Given the description of an element on the screen output the (x, y) to click on. 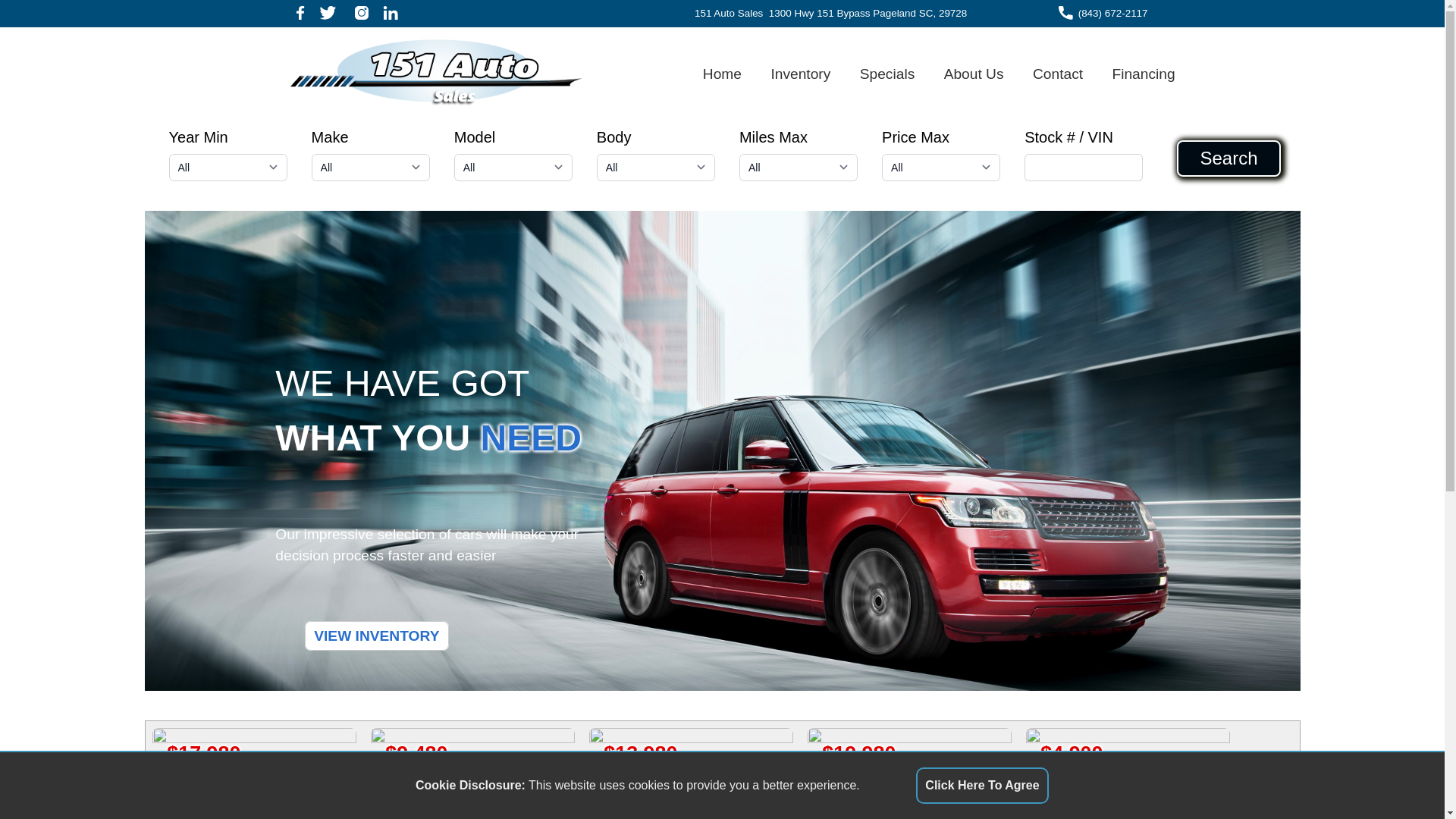
Contact Element type: text (1058, 73)
$13,980 Element type: text (513, 738)
Financing Element type: text (1143, 73)
$9,480 Element type: text (302, 738)
Home Element type: text (722, 73)
VIEW INVENTORY Element type: text (376, 635)
About Us Element type: text (972, 73)
Search Element type: text (1228, 158)
(843) 672-2117 Element type: text (1113, 13)
$4,900 Element type: text (971, 738)
  Element type: text (361, 13)
Specials Element type: text (887, 73)
$19,980 Element type: text (727, 738)
1300 Hwy 151 Bypass Pageland SC, 29728 Element type: text (867, 13)
  Element type: text (389, 13)
$9,980 Element type: text (1128, 738)
Inventory Element type: text (800, 73)
